Given the description of an element on the screen output the (x, y) to click on. 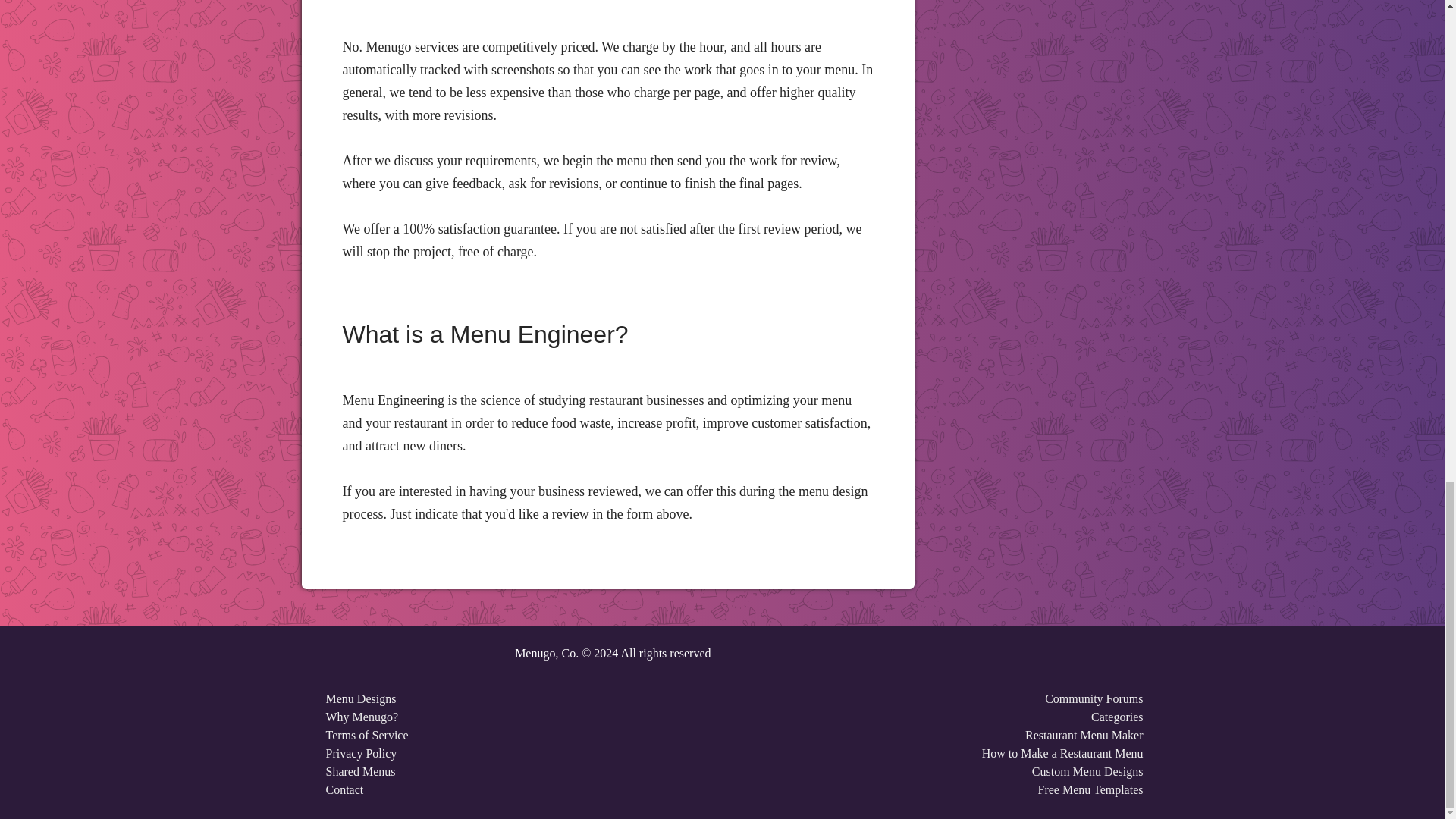
Menu Designs (361, 698)
How to Make a Restaurant Menu (1061, 753)
Restaurant Menu Maker (1083, 735)
Categories (1116, 716)
Custom Menu Designs (1087, 771)
Shared Menus (361, 771)
Why Menugo? (362, 716)
Contact (345, 789)
Terms of Service (367, 735)
Free Menu Templates (1089, 789)
